Given the description of an element on the screen output the (x, y) to click on. 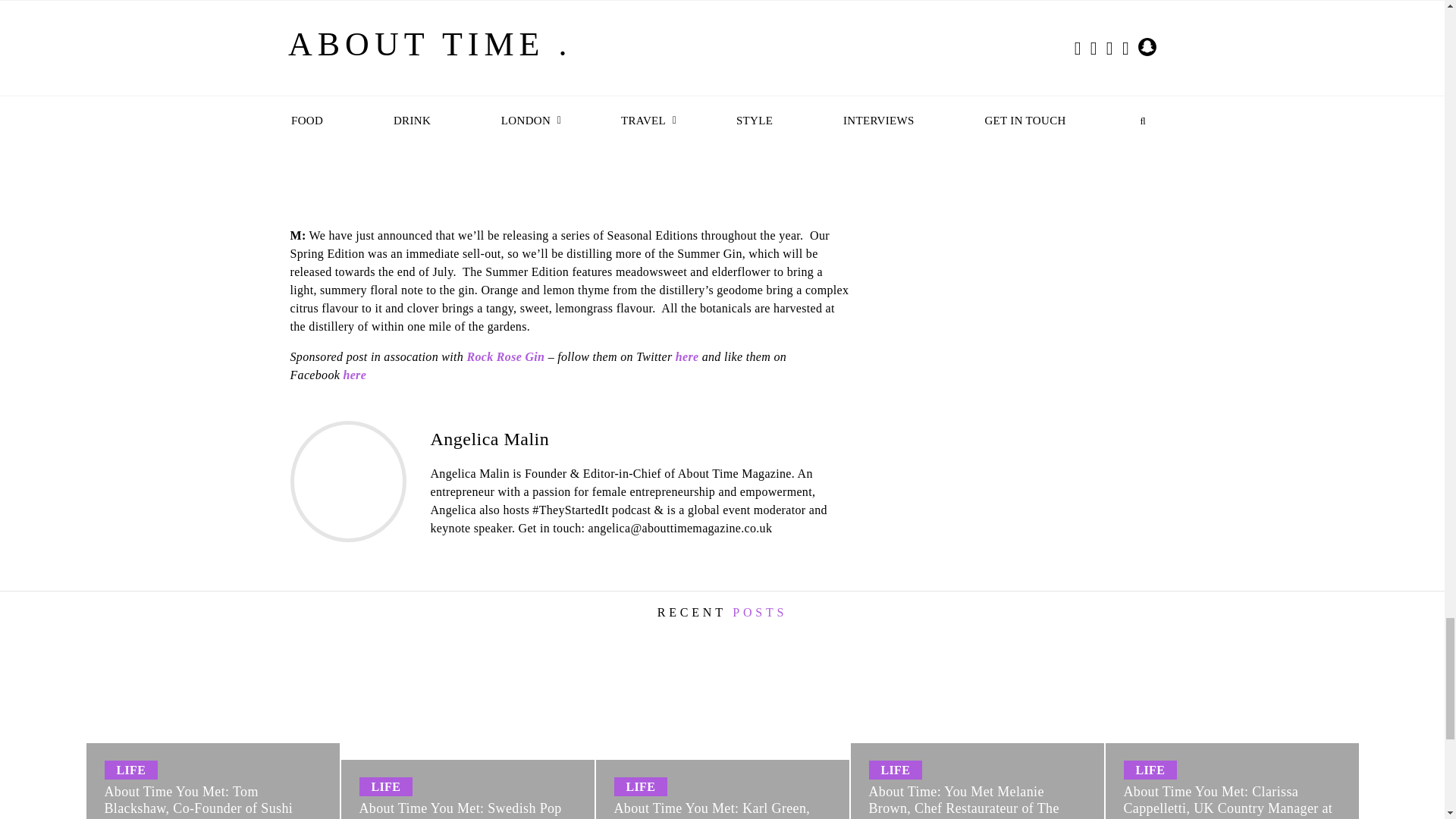
here (354, 374)
here (686, 356)
Rock Rose Gin (504, 356)
